Given the description of an element on the screen output the (x, y) to click on. 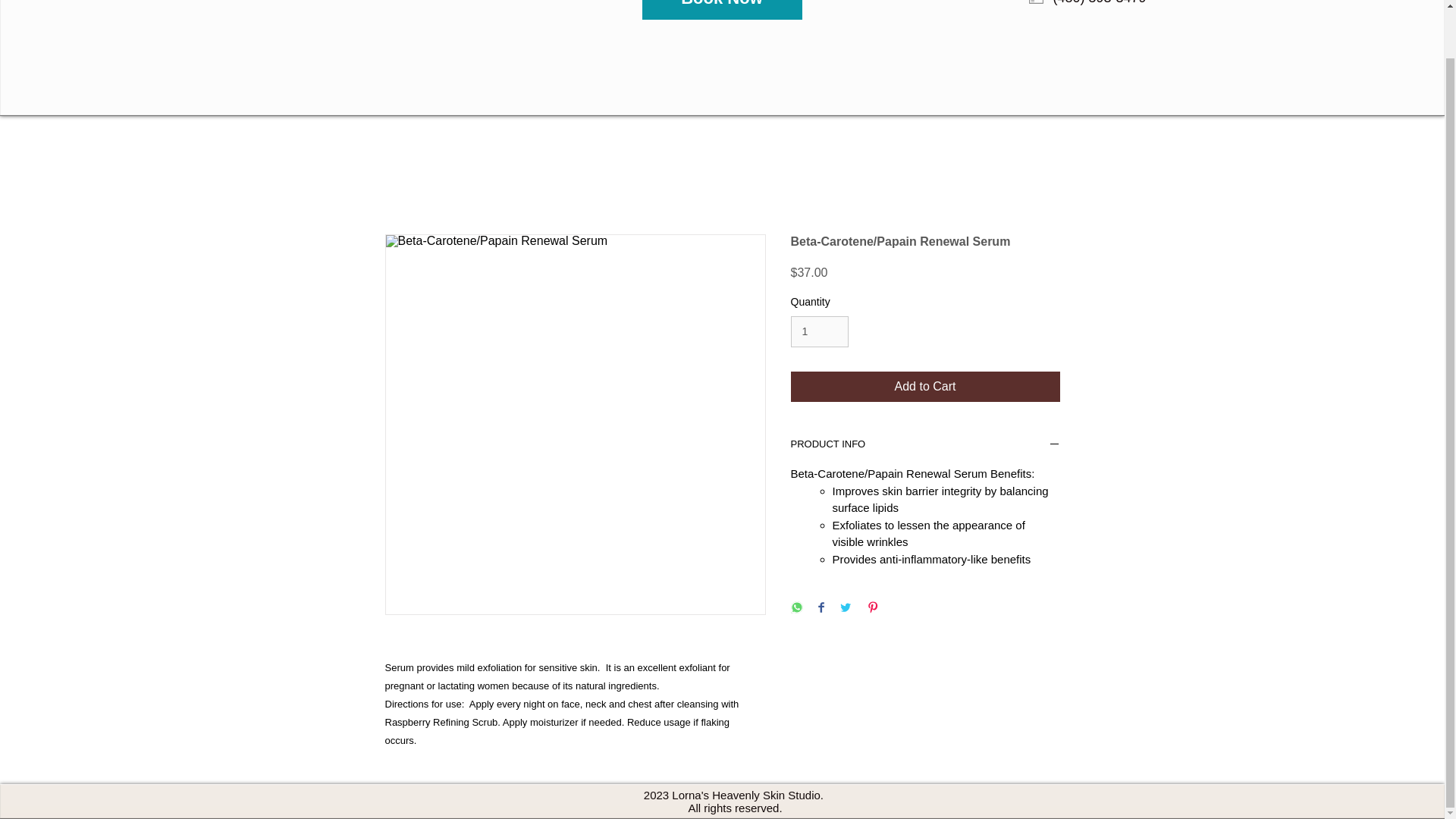
PRODUCT INFO (924, 445)
Book Now (722, 9)
1 (818, 331)
Add to Cart (924, 386)
